Given the description of an element on the screen output the (x, y) to click on. 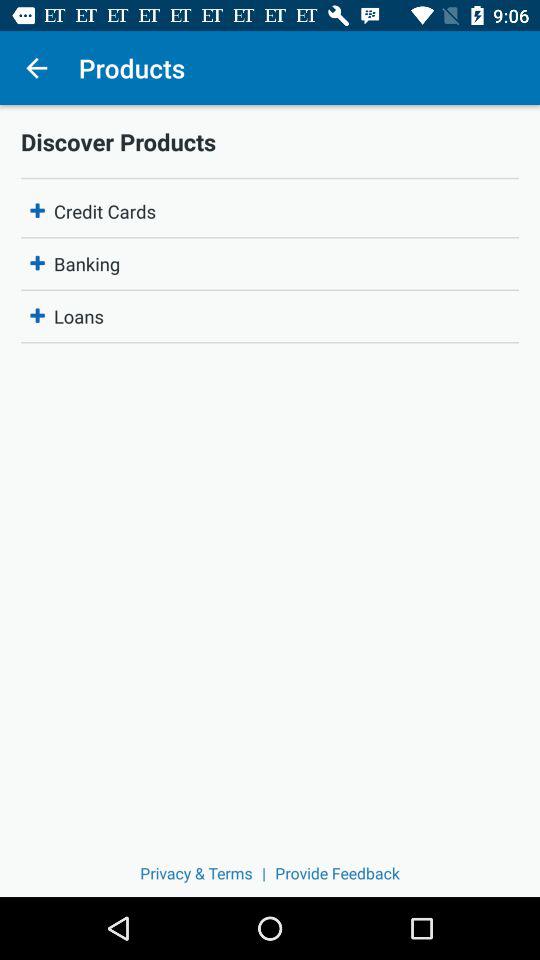
open item next to the products app (36, 68)
